Given the description of an element on the screen output the (x, y) to click on. 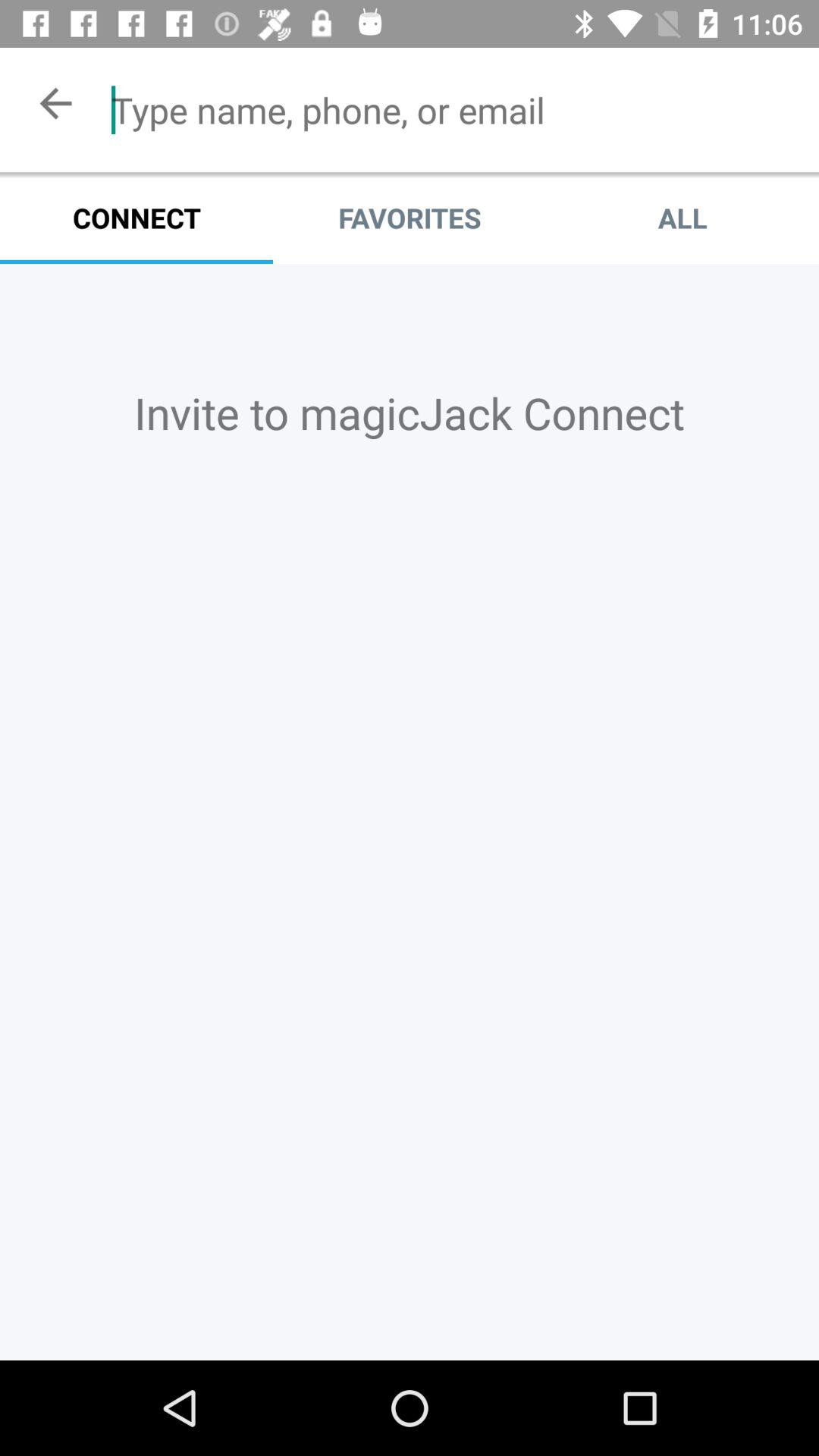
choose all (682, 217)
